Given the description of an element on the screen output the (x, y) to click on. 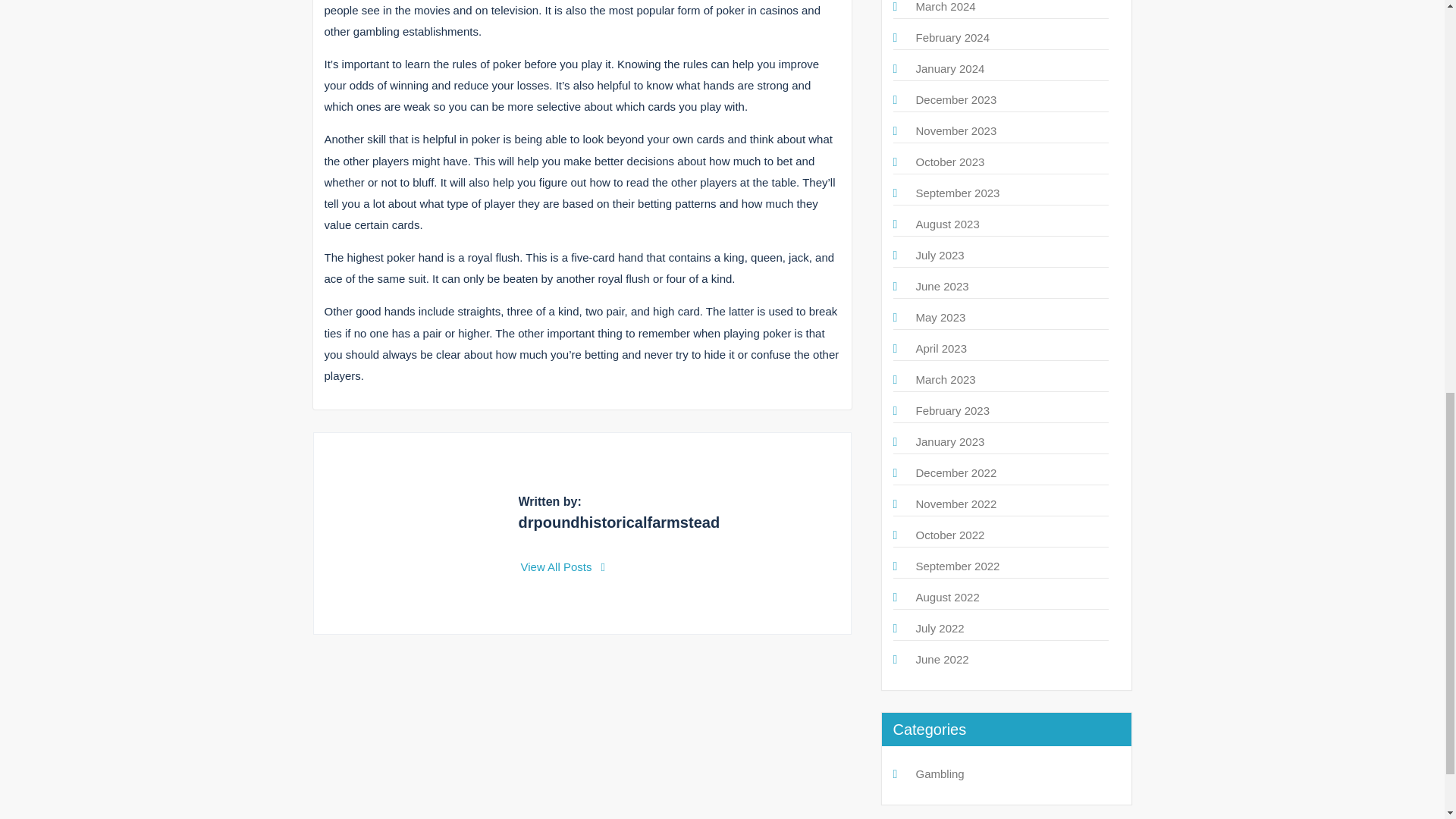
October 2023 (950, 161)
December 2022 (956, 472)
January 2023 (950, 440)
January 2024 (950, 68)
April 2023 (941, 348)
October 2022 (950, 534)
December 2023 (956, 99)
February 2024 (952, 37)
July 2023 (939, 254)
February 2023 (952, 410)
